Given the description of an element on the screen output the (x, y) to click on. 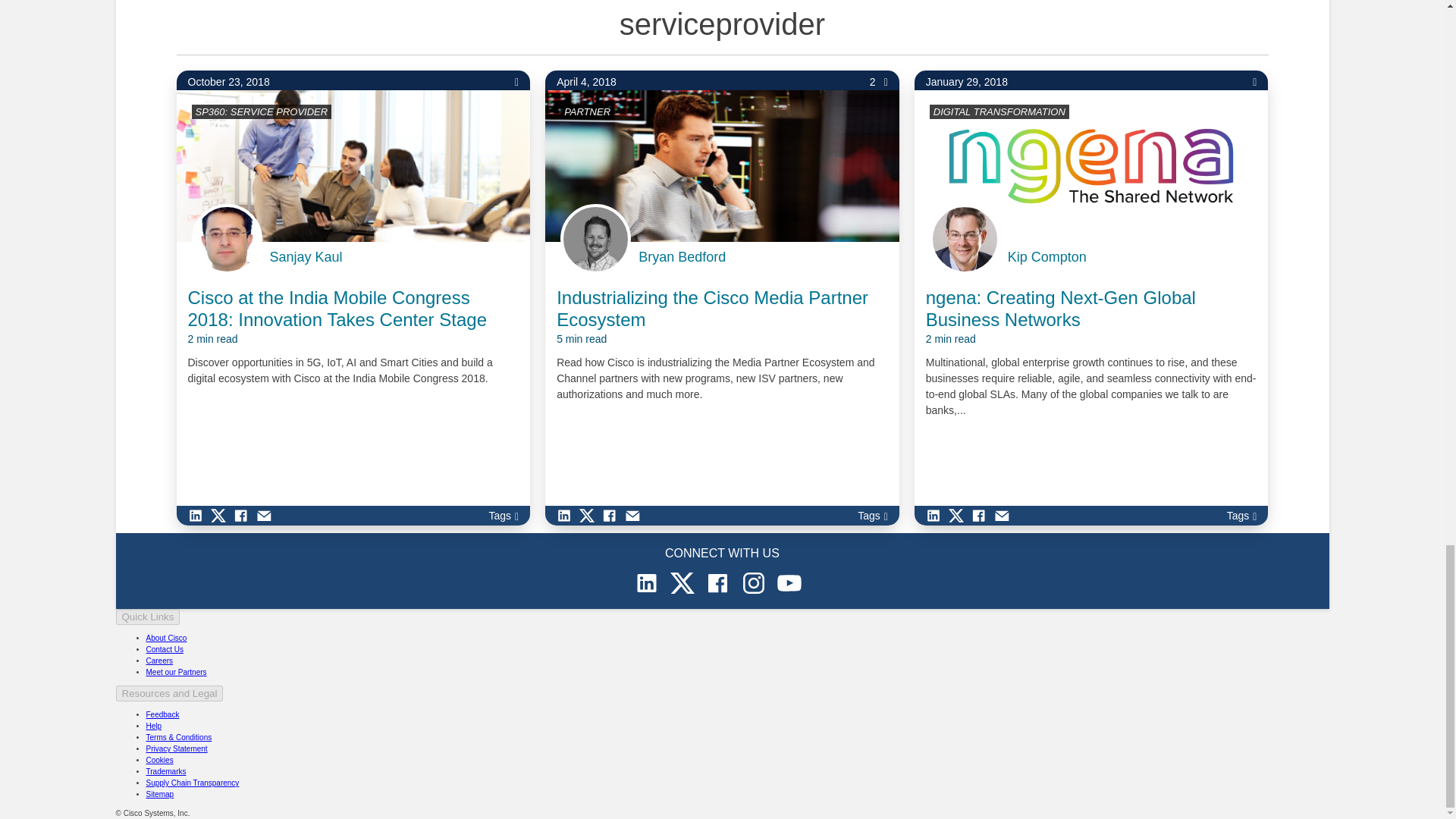
Sanjay Kaul (305, 257)
Posts by Sanjay Kaul (305, 257)
Bryan Bedford (682, 257)
Posts by Bryan Bedford (682, 257)
2 (878, 82)
PARTNER (587, 112)
SP360: SERVICE PROVIDER (262, 112)
Posts by Kip Compton (1046, 257)
Industrializing the Cisco Media Partner Ecosystem (722, 316)
